Given the description of an element on the screen output the (x, y) to click on. 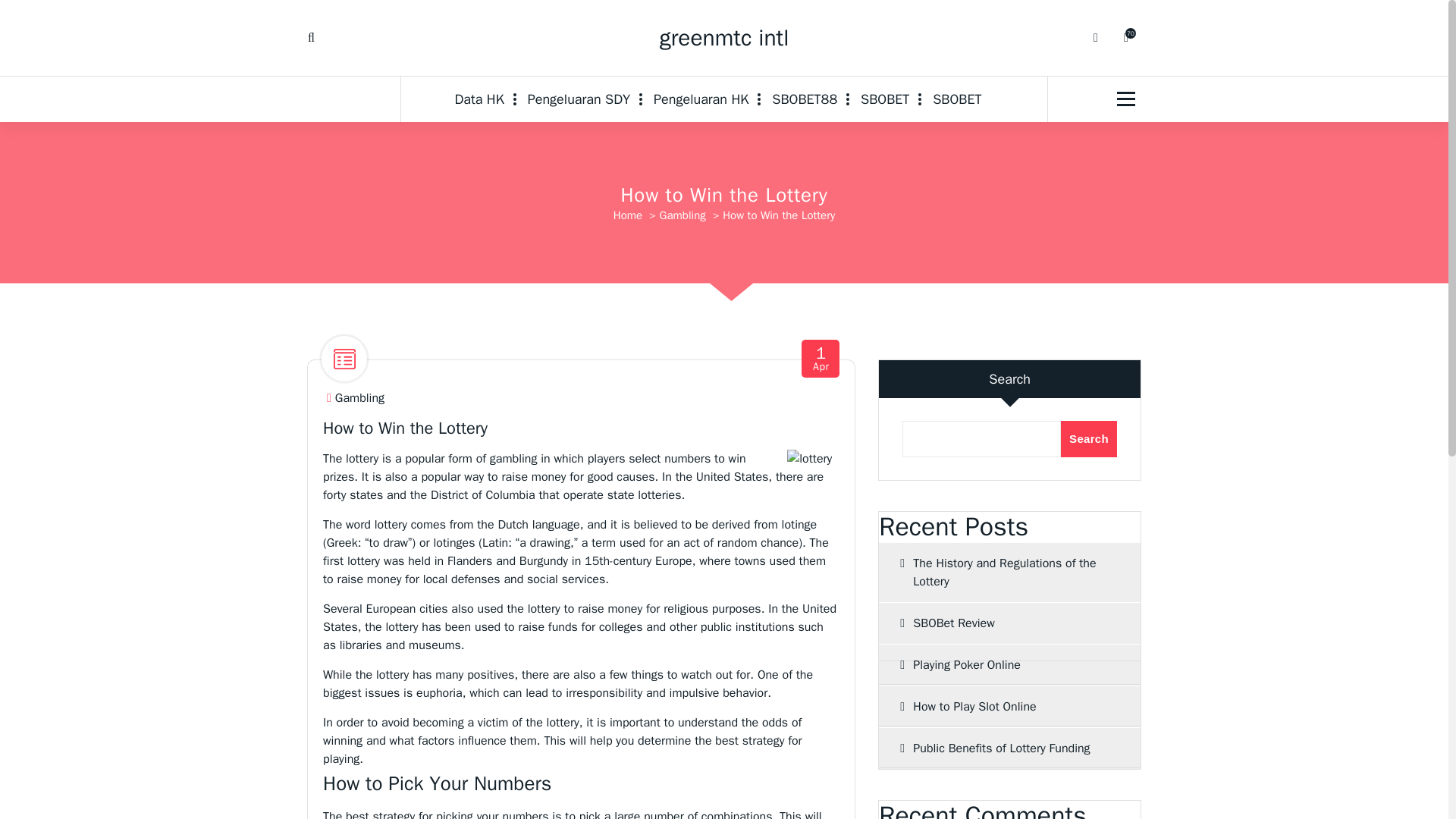
Gambling (682, 214)
Pengeluaran SDY (579, 99)
Pengeluaran HK (701, 99)
SBOBet Review (1009, 622)
Playing Poker Online (1009, 664)
Search (1088, 438)
SBOBET (956, 99)
SBOBET (956, 99)
Home (627, 214)
707 (1125, 37)
SBOBET (884, 99)
Data HK (484, 99)
SBOBET88 (804, 99)
SBOBET88 (804, 99)
How to Play Slot Online (1009, 706)
